Given the description of an element on the screen output the (x, y) to click on. 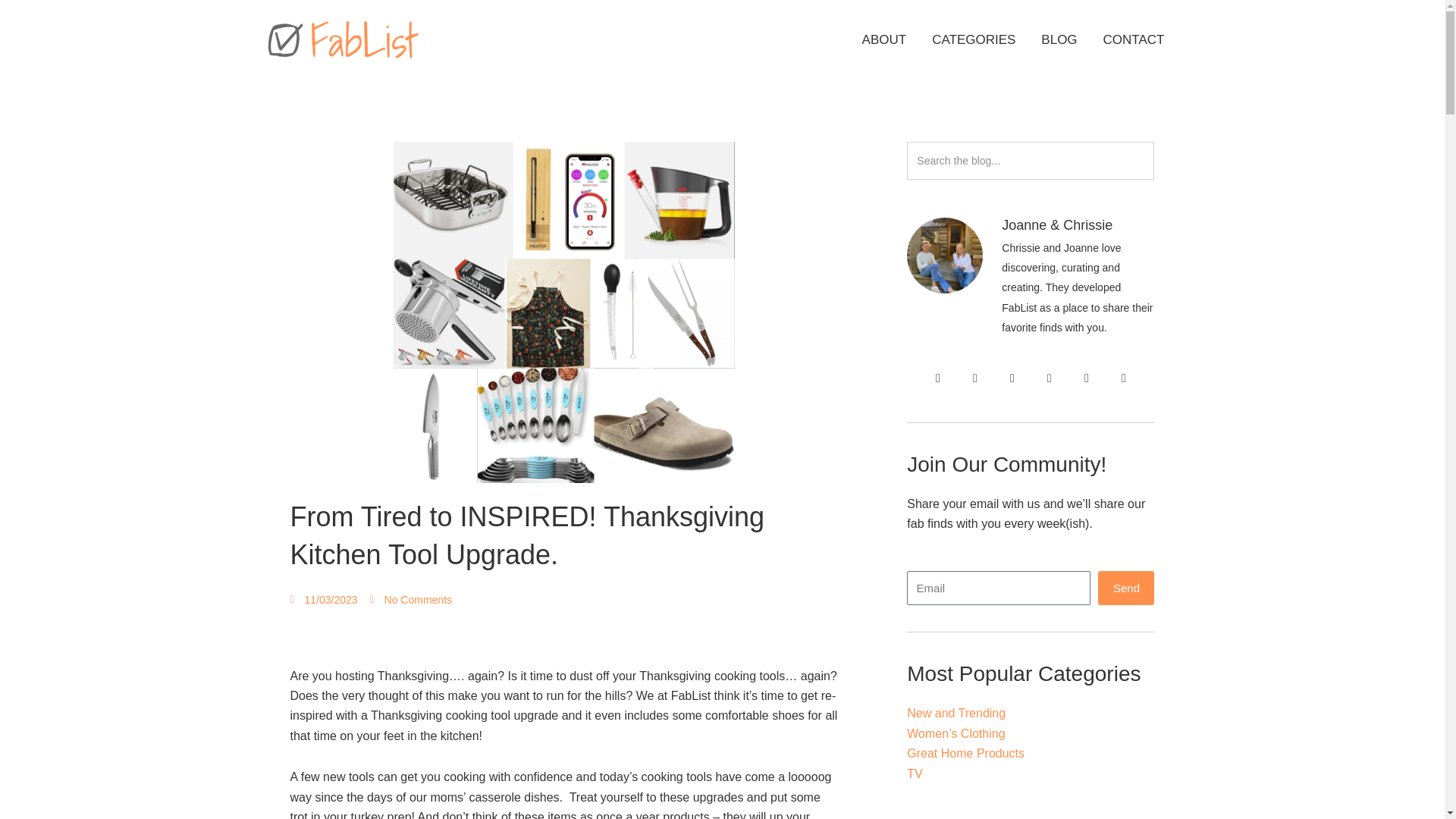
BLOG (1058, 39)
CONTACT (1133, 39)
No Comments (410, 599)
tool collage (564, 312)
ABOUT (884, 39)
CATEGORIES (972, 39)
